Given the description of an element on the screen output the (x, y) to click on. 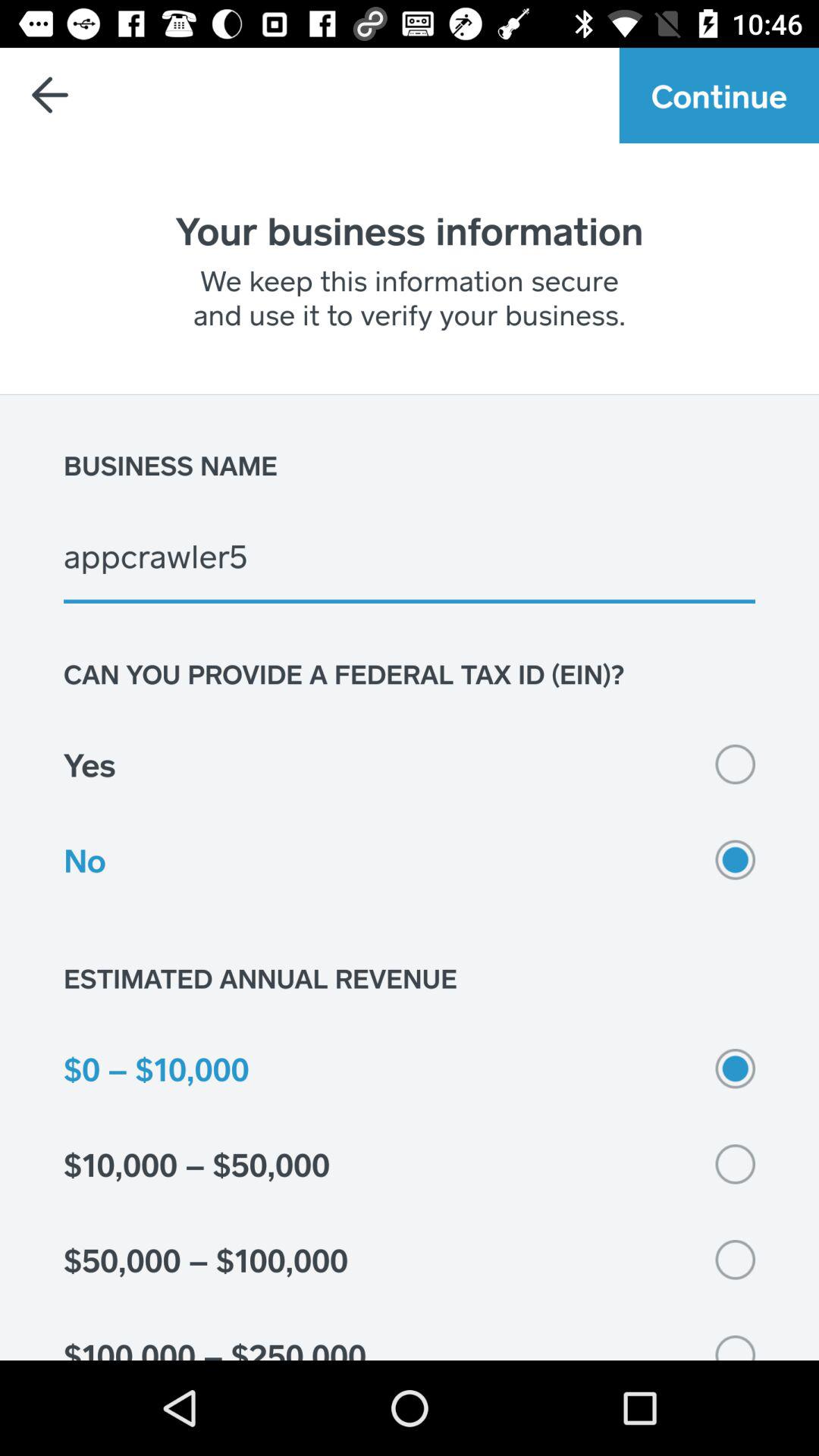
flip until the continue (719, 95)
